Given the description of an element on the screen output the (x, y) to click on. 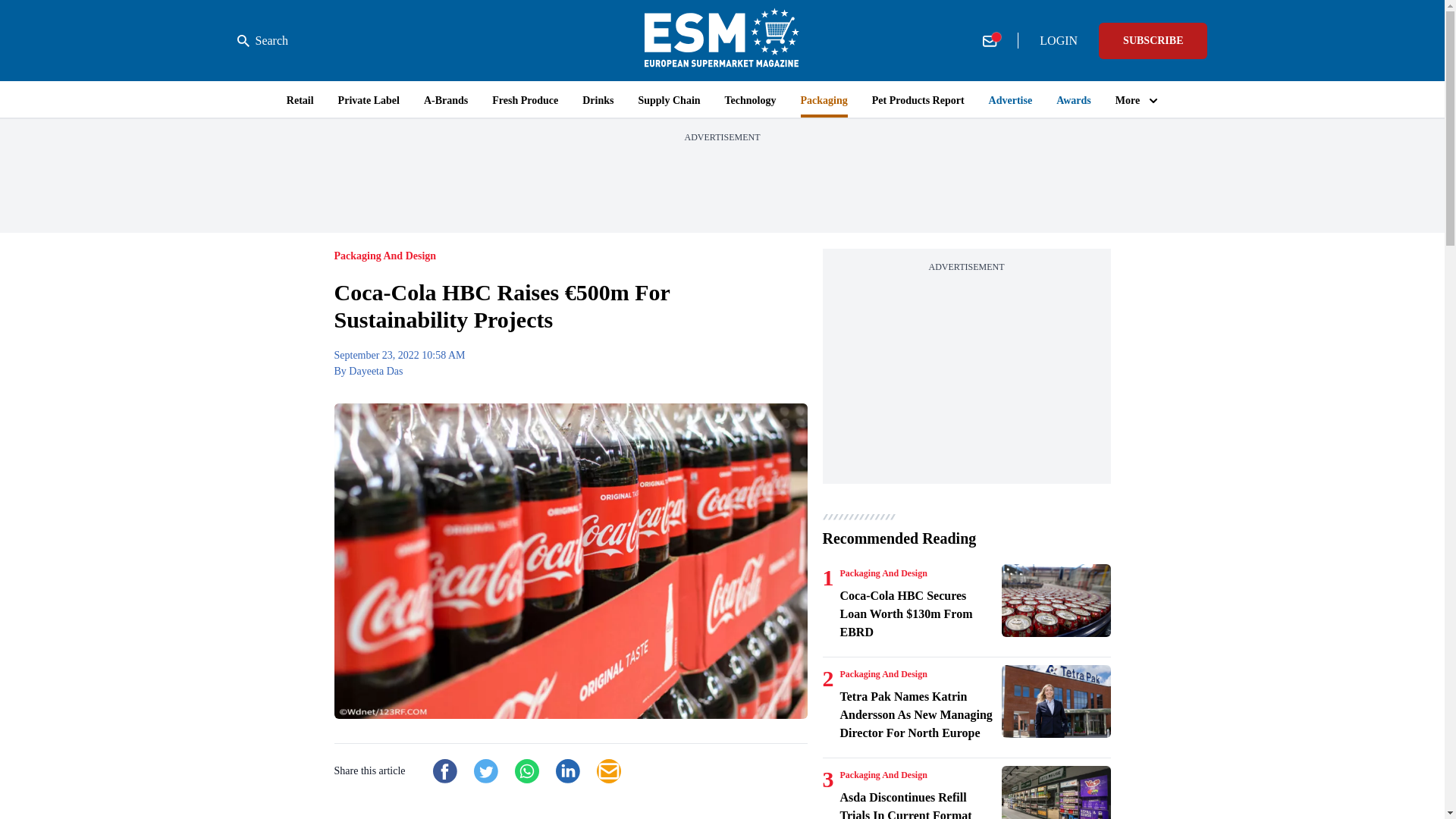
Search (261, 40)
Packaging And Design (883, 775)
ESM (722, 40)
Packaging And Design (883, 674)
Packaging And Design (883, 573)
